Given the description of an element on the screen output the (x, y) to click on. 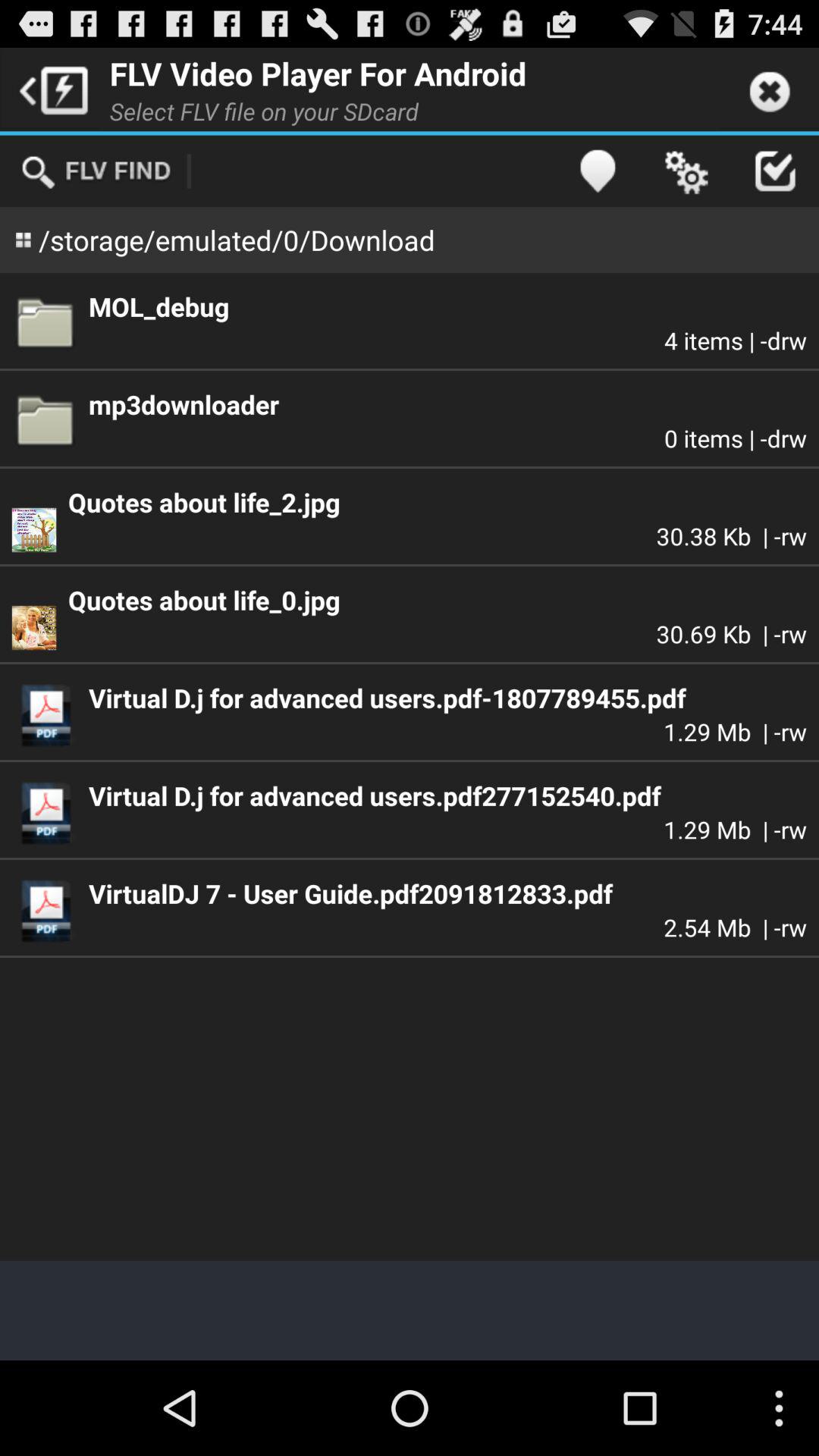
open the app above 2 54 mb app (447, 893)
